Given the description of an element on the screen output the (x, y) to click on. 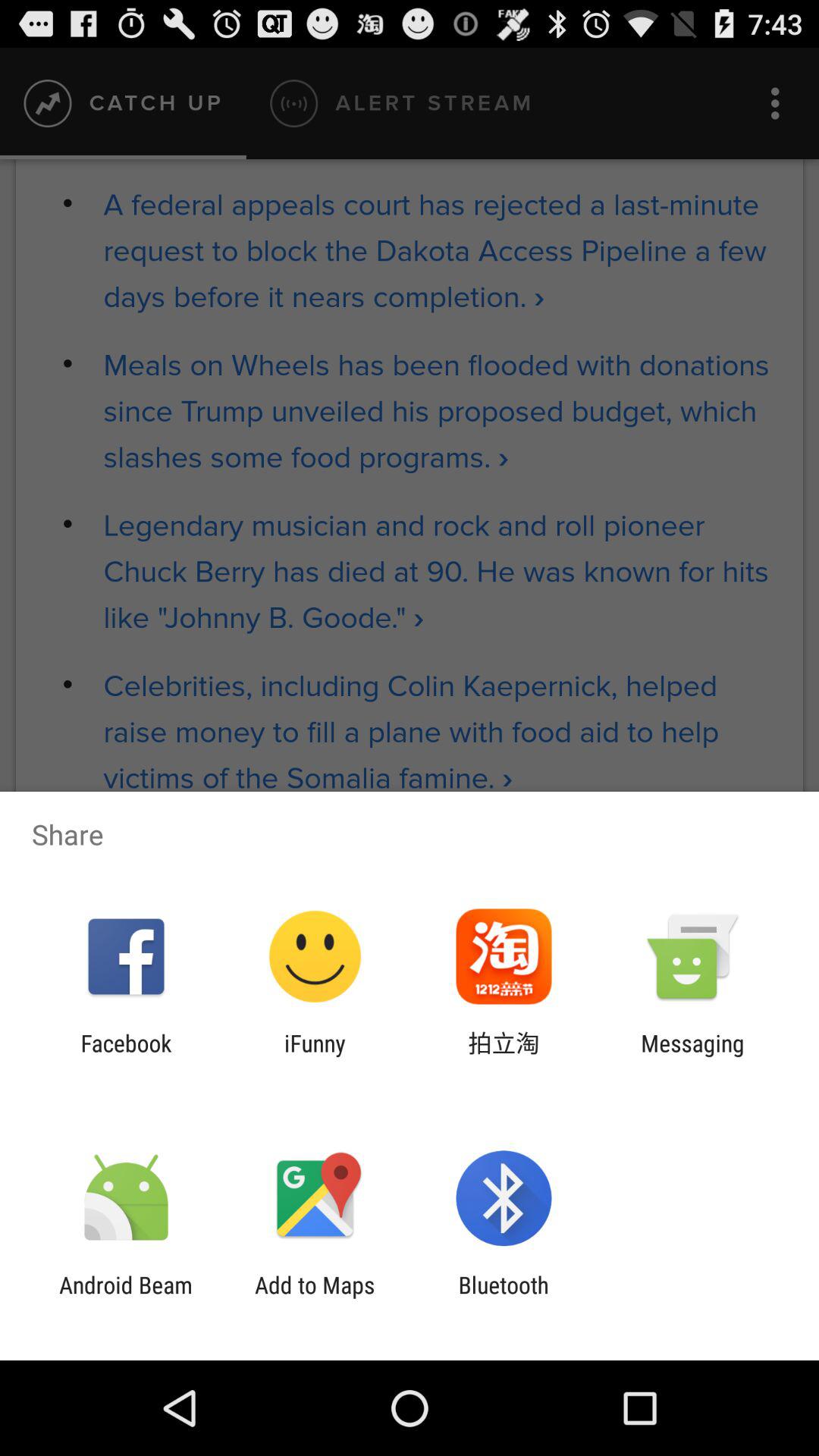
launch icon to the left of the bluetooth app (314, 1298)
